Given the description of an element on the screen output the (x, y) to click on. 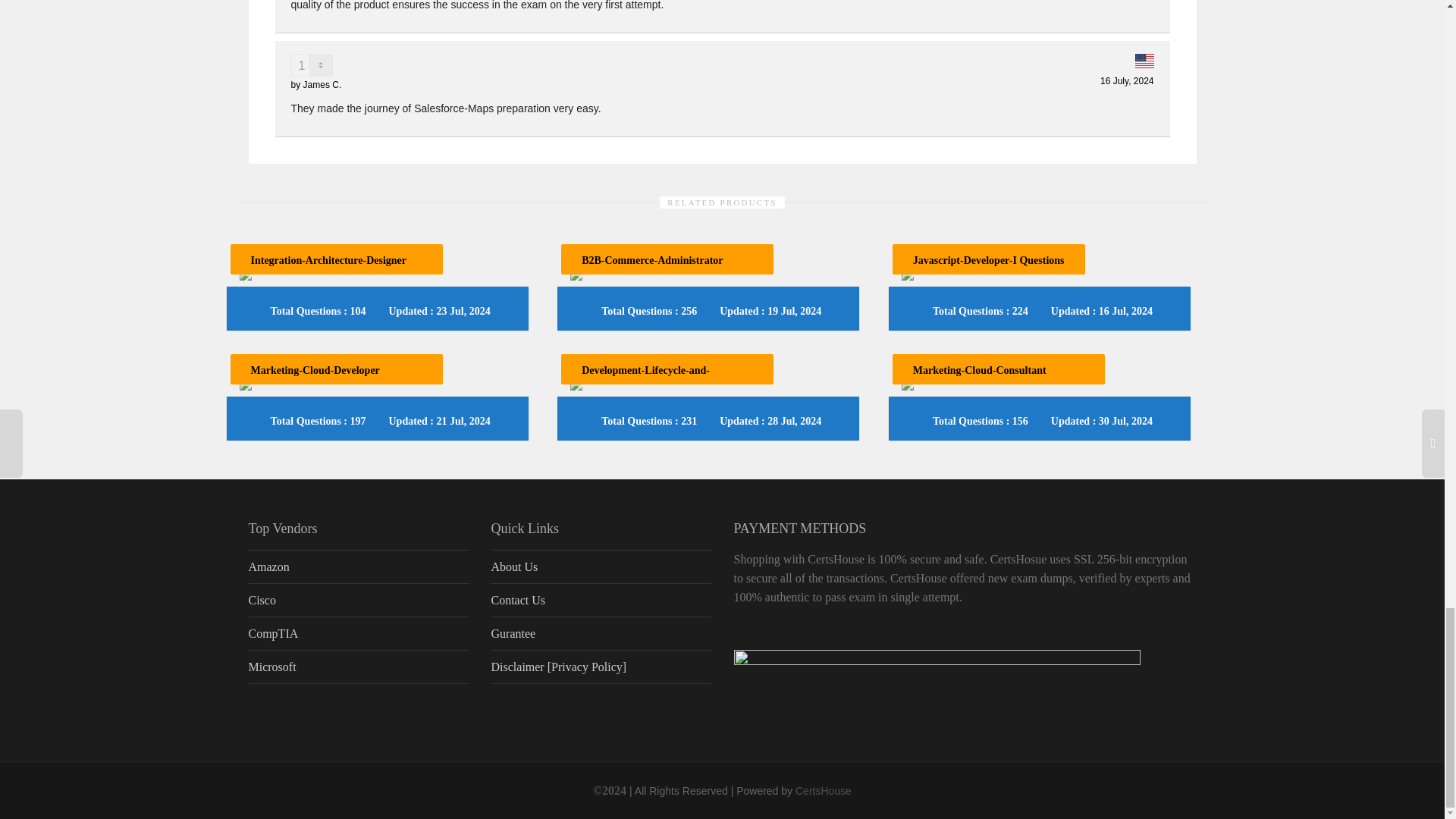
Marketing-Cloud-Developer Questions (314, 379)
About Us (601, 566)
Javascript-Developer-I Questions (988, 260)
Amazon (358, 566)
Gurantee (601, 633)
Development-Lifecycle-and-Deployment-Designer Questions (653, 379)
B2B-Commerce-Administrator Questions (651, 269)
Marketing-Cloud-Consultant Questions (979, 379)
B2B-Commerce-Administrator Questions (651, 269)
Contact Us (601, 600)
Javascript-Developer-I Questions (988, 260)
Integration-Architecture-Designer Questions (328, 269)
Development-Lifecycle-and-Deployment-Designer Questions (653, 379)
CompTIA (358, 633)
Marketing-Cloud-Consultant Questions (979, 379)
